Given the description of an element on the screen output the (x, y) to click on. 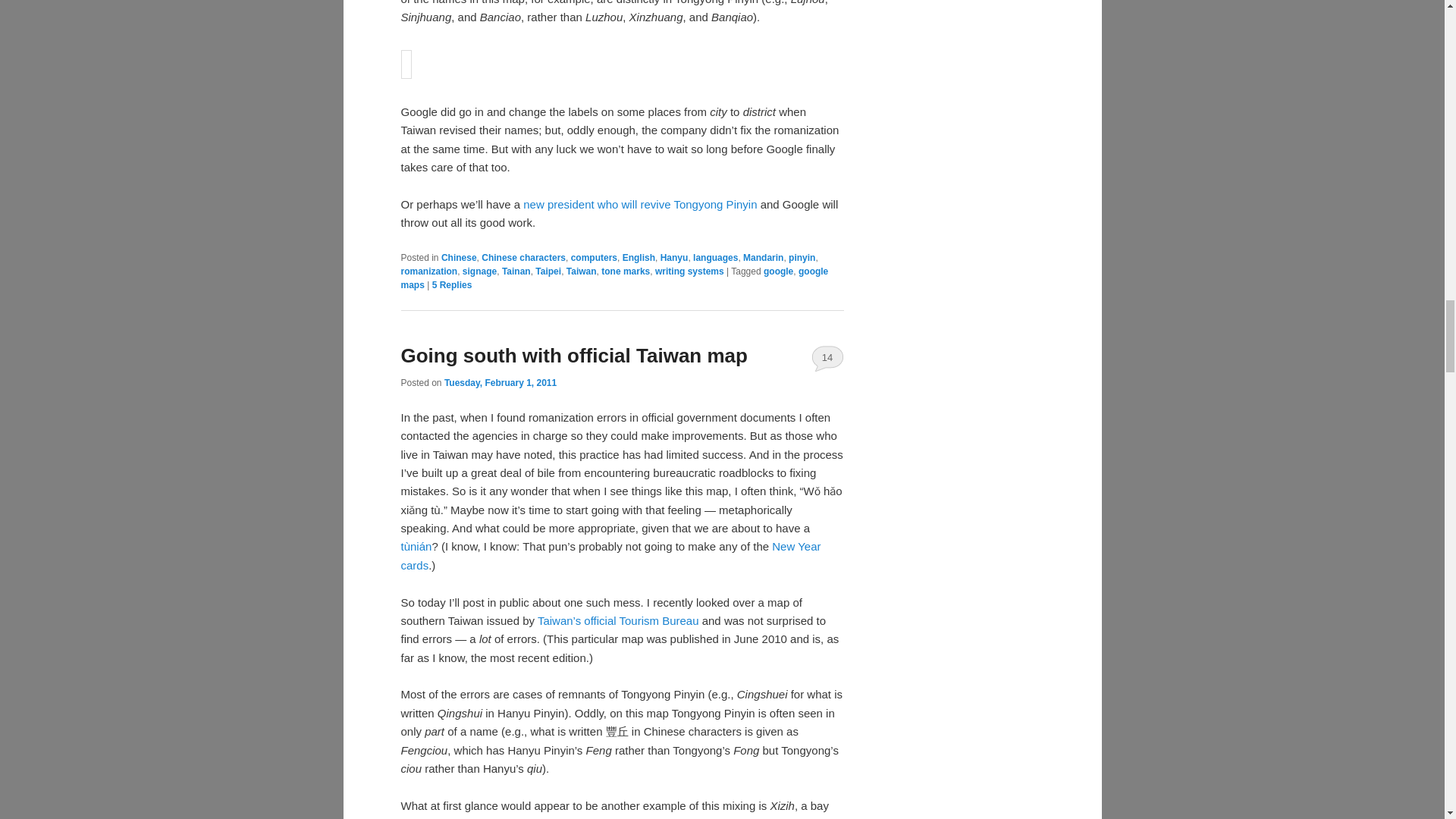
Taipei (547, 271)
signage (479, 271)
pinyin (802, 257)
Tainan (516, 271)
google (777, 271)
languages (715, 257)
5 Replies (451, 285)
tone marks (625, 271)
google maps (614, 278)
English (639, 257)
computers (593, 257)
Hanyu (674, 257)
Chinese (459, 257)
writing systems (689, 271)
Chinese characters (523, 257)
